Given the description of an element on the screen output the (x, y) to click on. 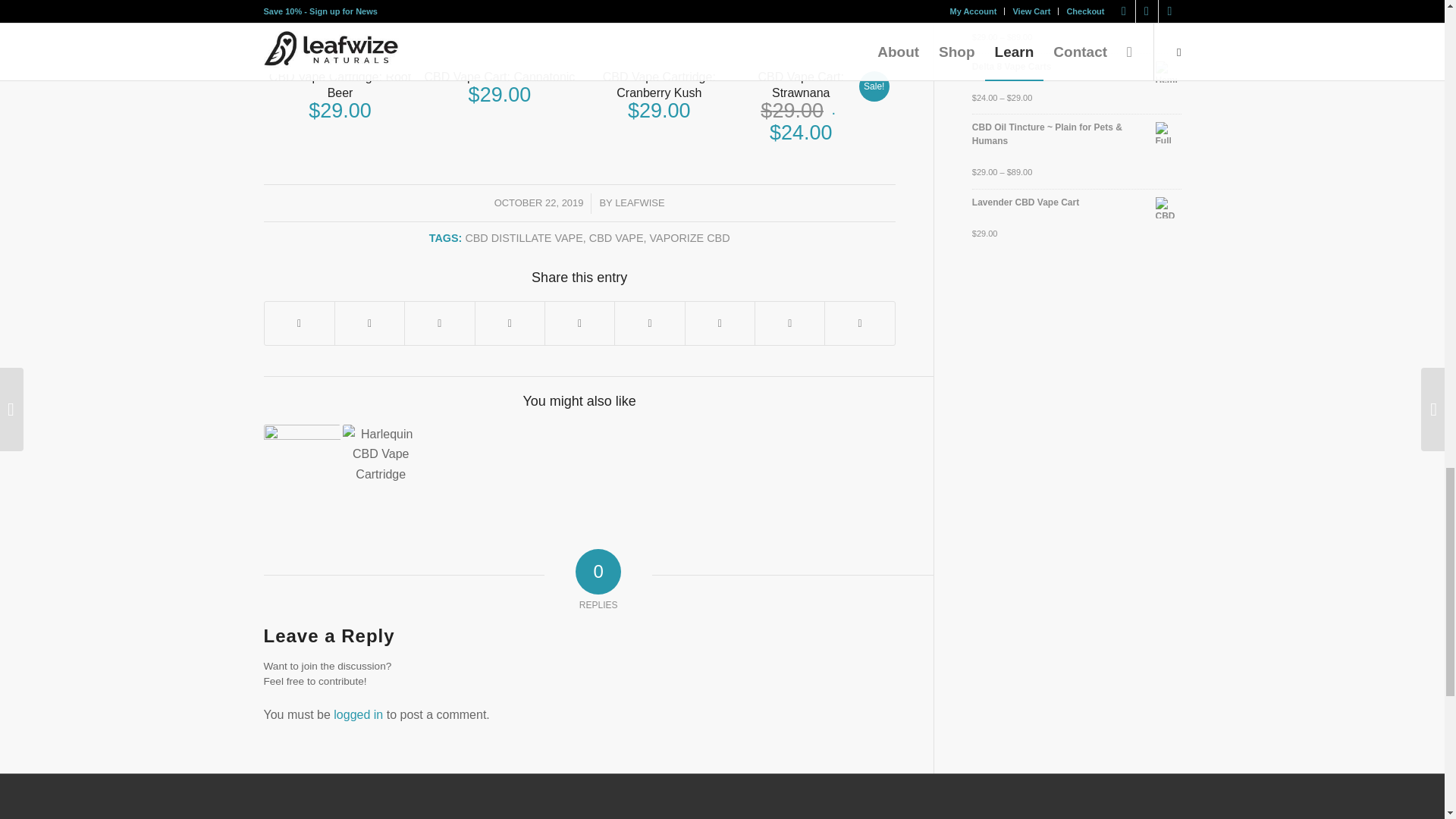
Posts by leafwise (639, 202)
